Given the description of an element on the screen output the (x, y) to click on. 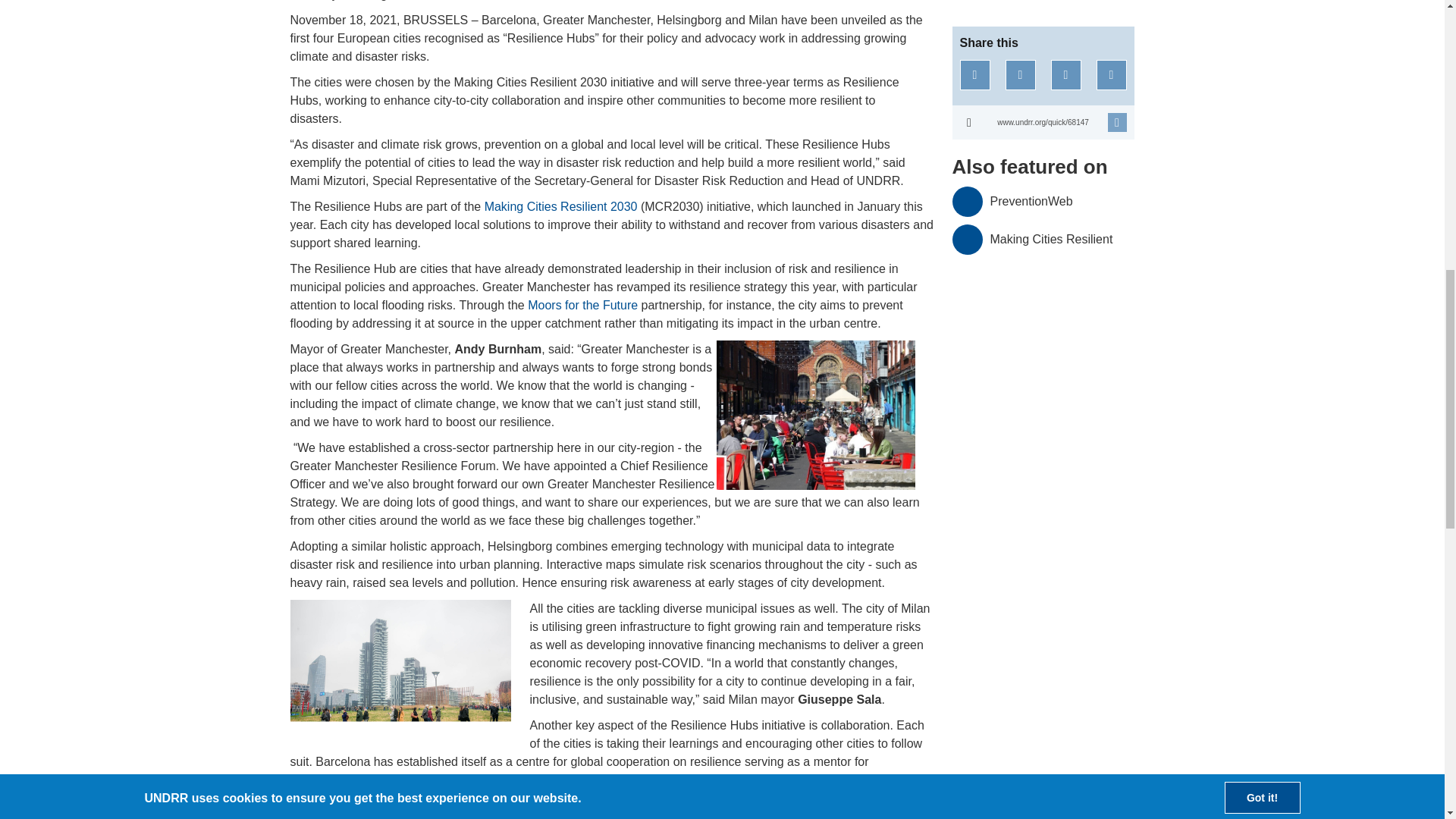
Share on LinkedIn (1066, 74)
Share on Facebook (974, 74)
Copy to Clipboard (1043, 122)
Share on Twitter (1020, 74)
Share via Email (1111, 74)
